Given the description of an element on the screen output the (x, y) to click on. 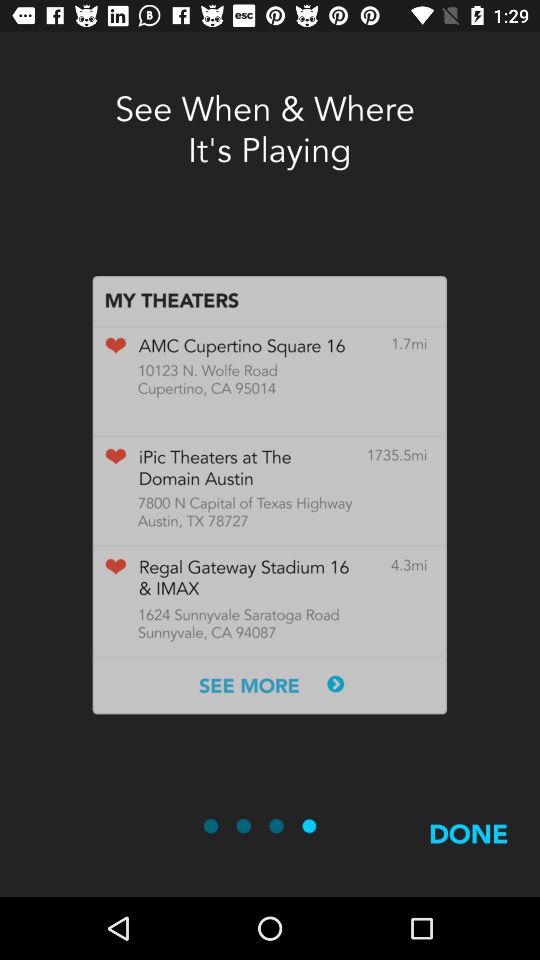
press icon below the see when where icon (269, 494)
